Given the description of an element on the screen output the (x, y) to click on. 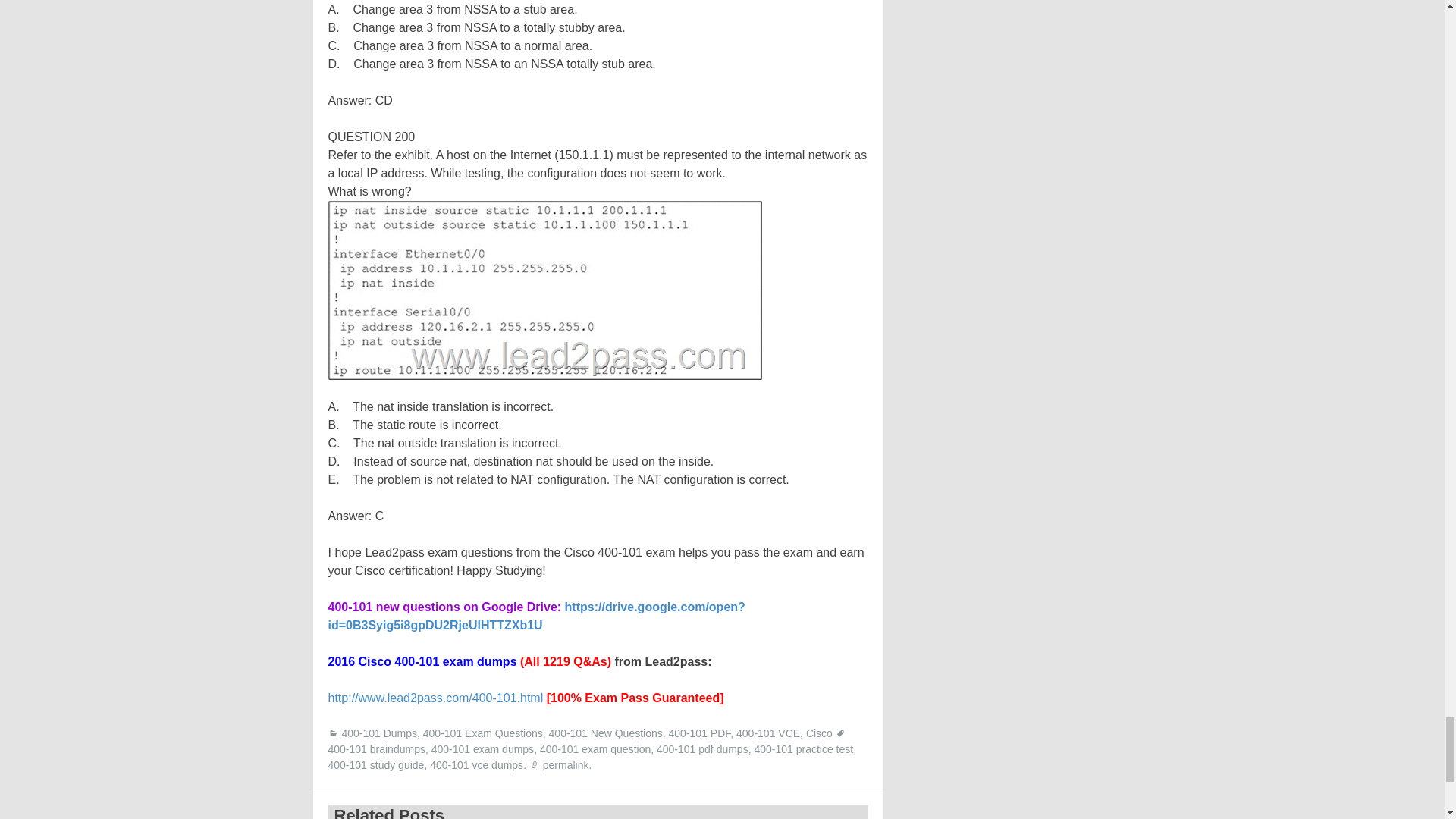
400-101 exam dumps (482, 748)
400-101 braindumps (376, 748)
400-101 New Questions (605, 733)
400-101 PDF (699, 733)
400-101 Dumps (378, 733)
400-101 Exam Questions (483, 733)
400-101 VCE (767, 733)
Cisco (819, 733)
